Given the description of an element on the screen output the (x, y) to click on. 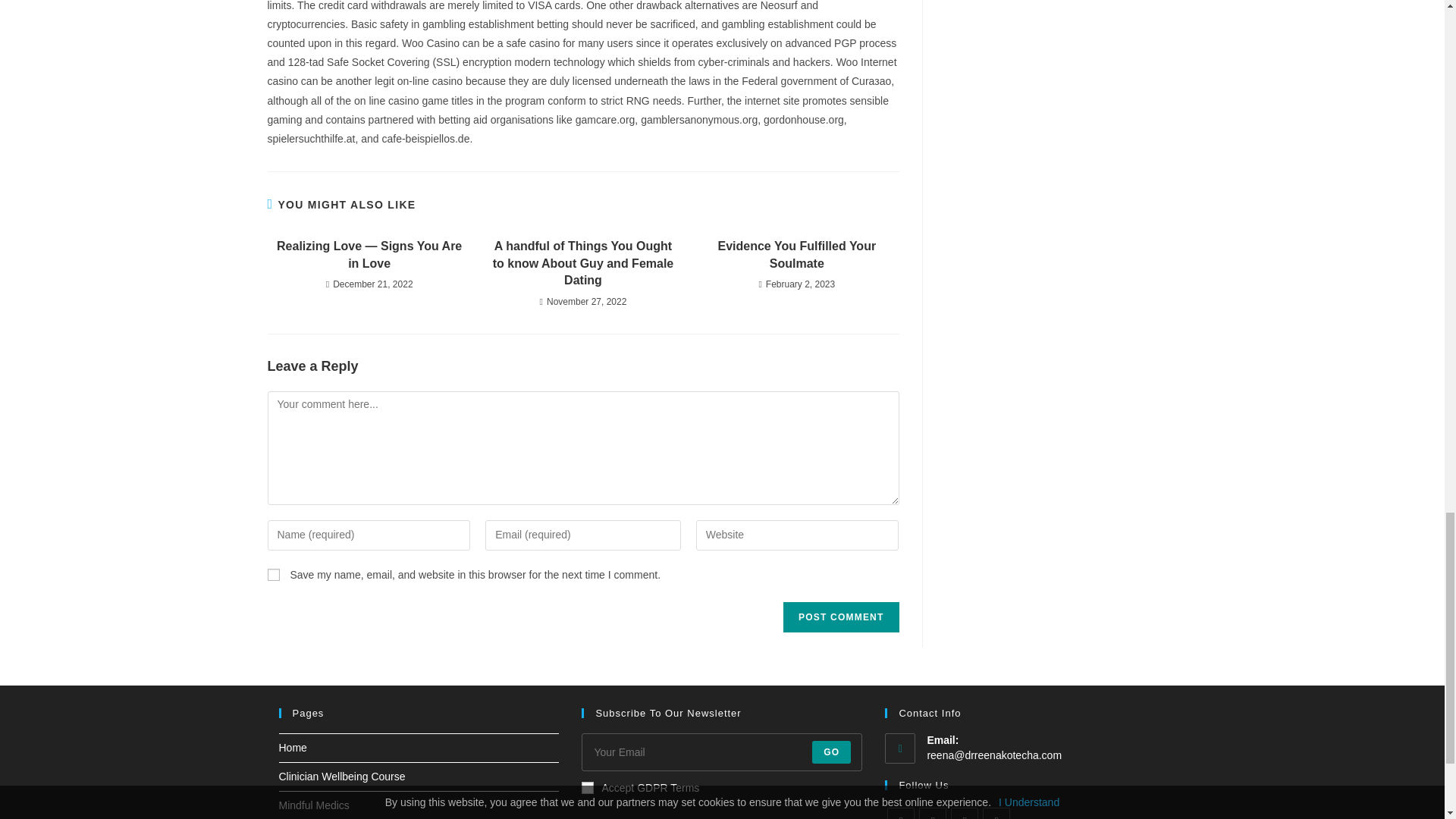
Mindful Medics (314, 805)
1 (587, 787)
Clinician Wellbeing Course (342, 776)
GO (831, 752)
Evidence You Fulfilled Your Soulmate (796, 254)
Post Comment (840, 616)
Home (293, 747)
yes (272, 574)
Post Comment (840, 616)
